Given the description of an element on the screen output the (x, y) to click on. 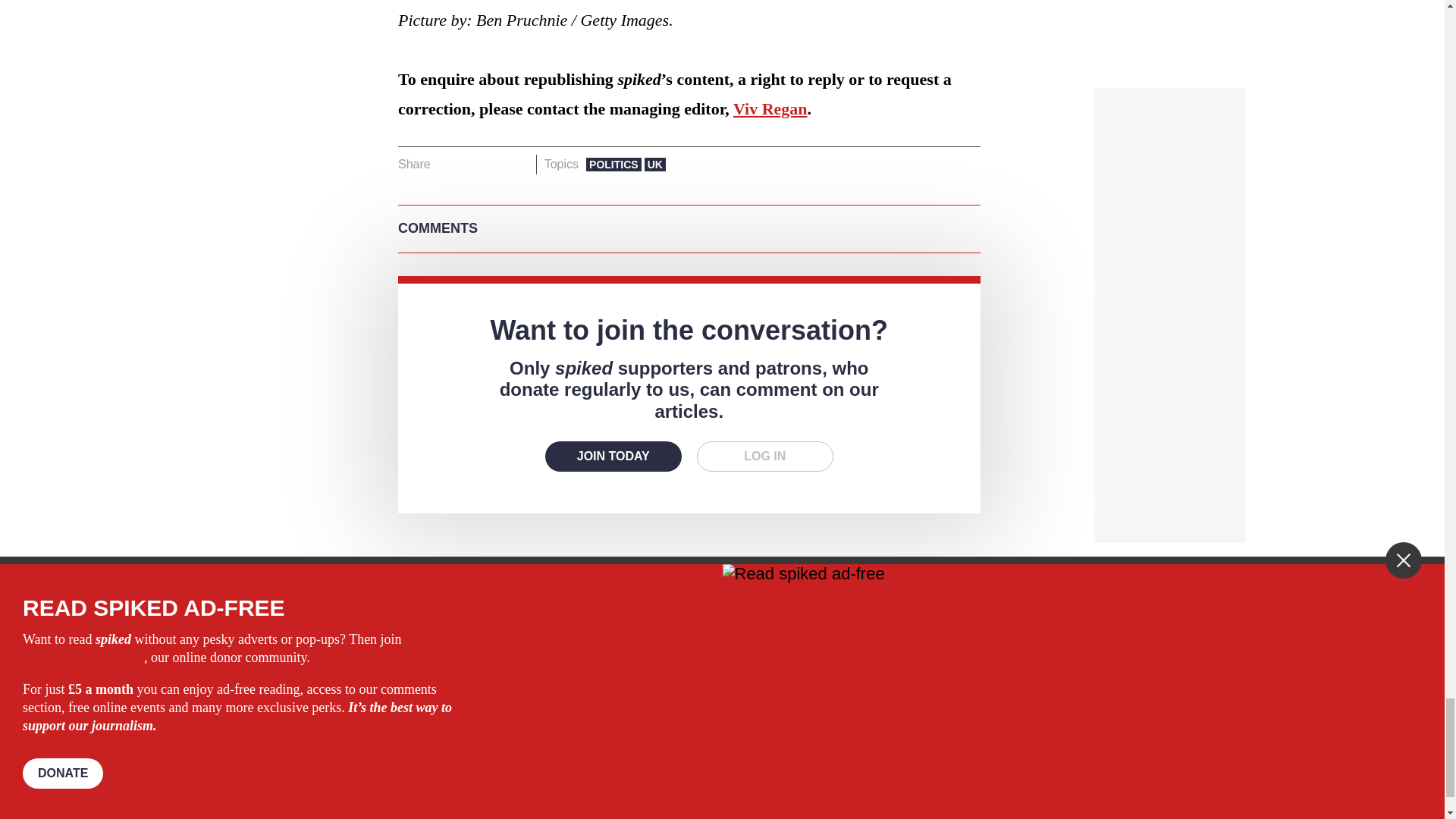
Share on Twitter (471, 164)
Share on Email (518, 164)
Share on Facebook (448, 164)
Share on Whatsapp (494, 164)
